Given the description of an element on the screen output the (x, y) to click on. 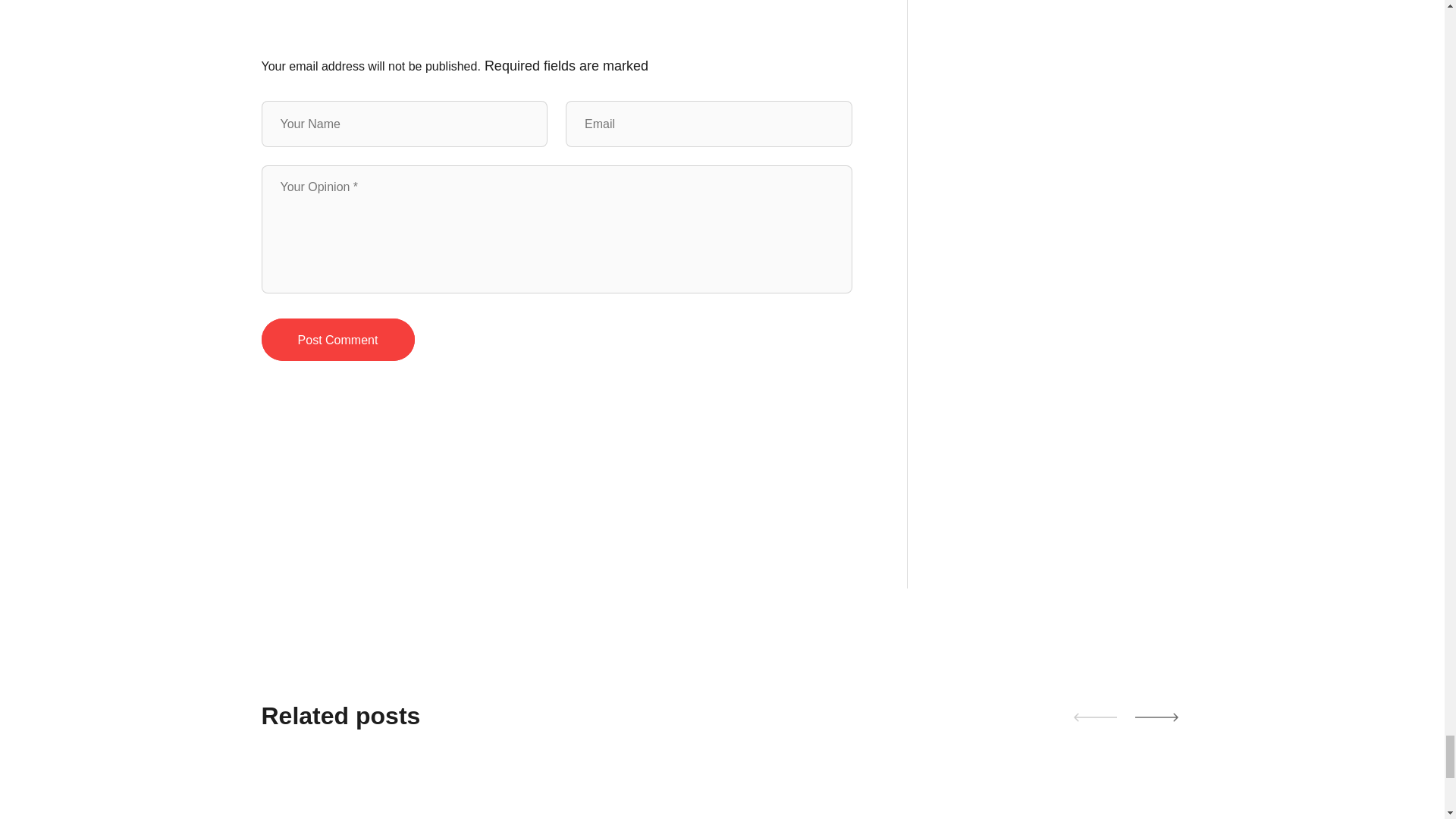
Post Comment (336, 339)
